Given the description of an element on the screen output the (x, y) to click on. 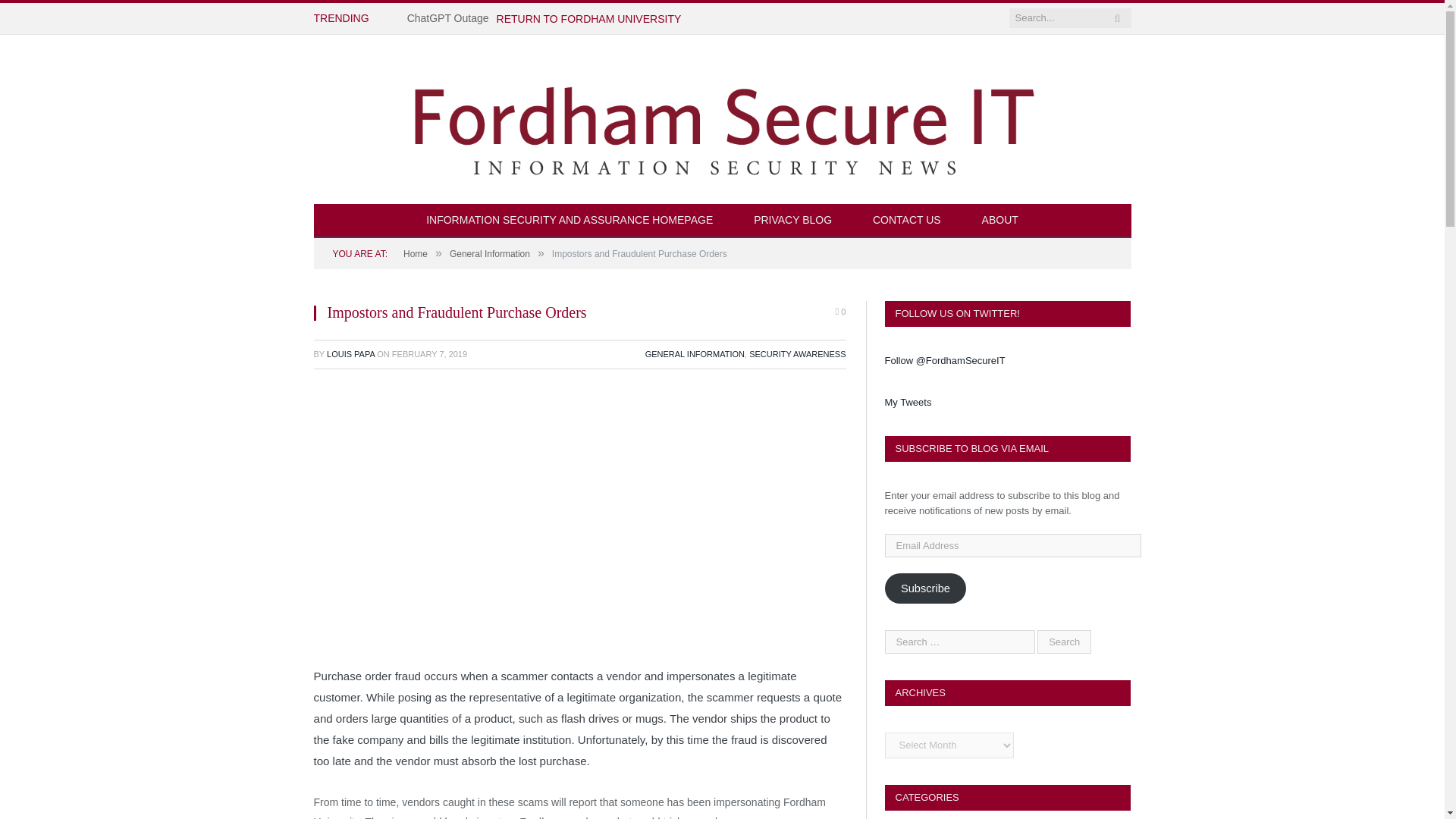
SECURITY AWARENESS (797, 353)
CONTACT US (906, 220)
2019-02-07 (429, 353)
INFORMATION SECURITY AND ASSURANCE HOMEPAGE (569, 220)
ChatGPT Outage (451, 18)
Posts by Louis Papa (350, 353)
ChatGPT Outage (451, 18)
PRIVACY BLOG (792, 220)
RETURN TO FORDHAM UNIVERSITY (588, 18)
